Given the description of an element on the screen output the (x, y) to click on. 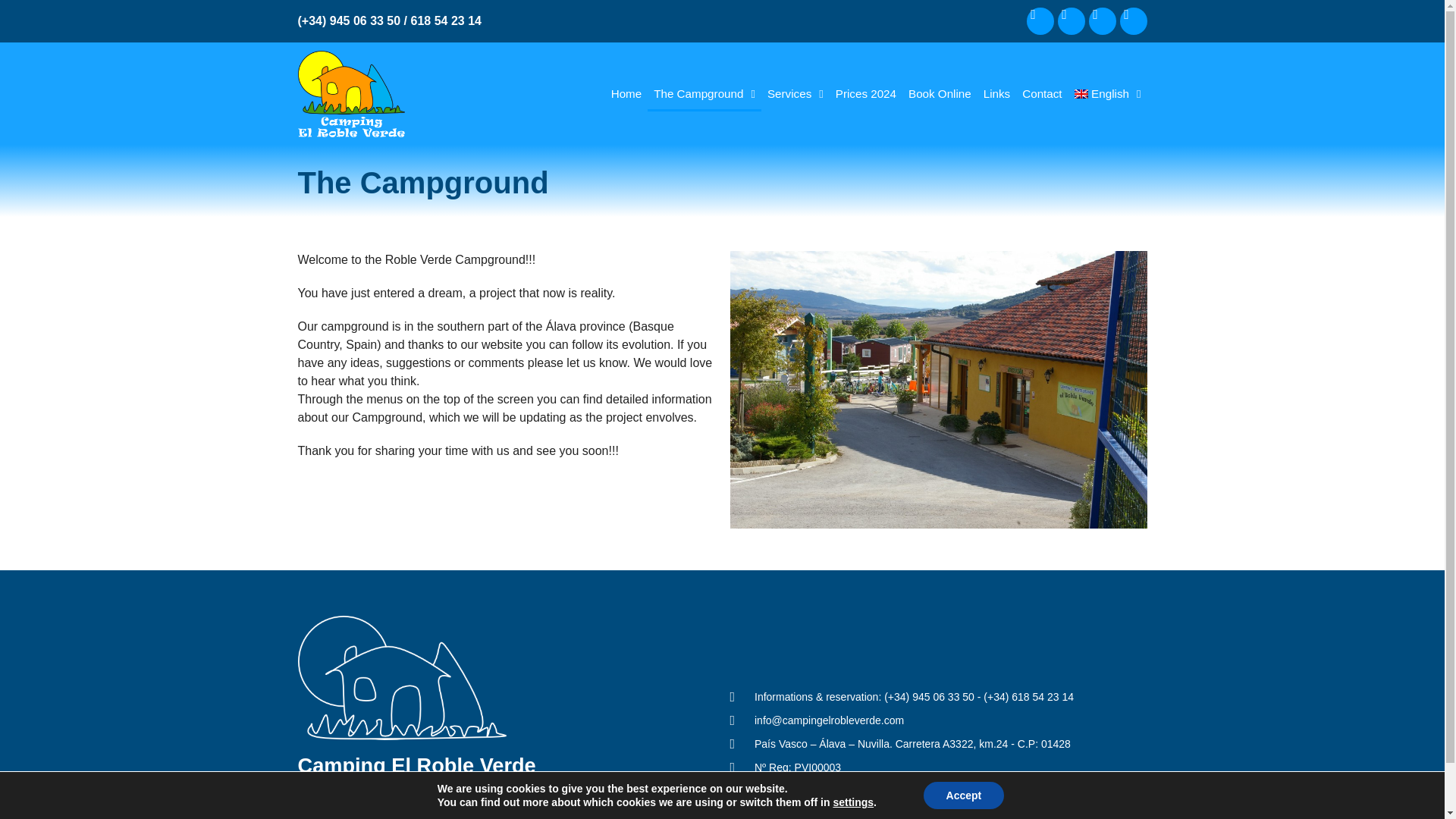
Home (626, 93)
Links (996, 93)
Prices 2024 (865, 93)
Contact (1041, 93)
logo-footer (401, 677)
English (1107, 93)
Book Online (939, 93)
English (1107, 93)
Services (795, 93)
The Campground (704, 93)
